Given the description of an element on the screen output the (x, y) to click on. 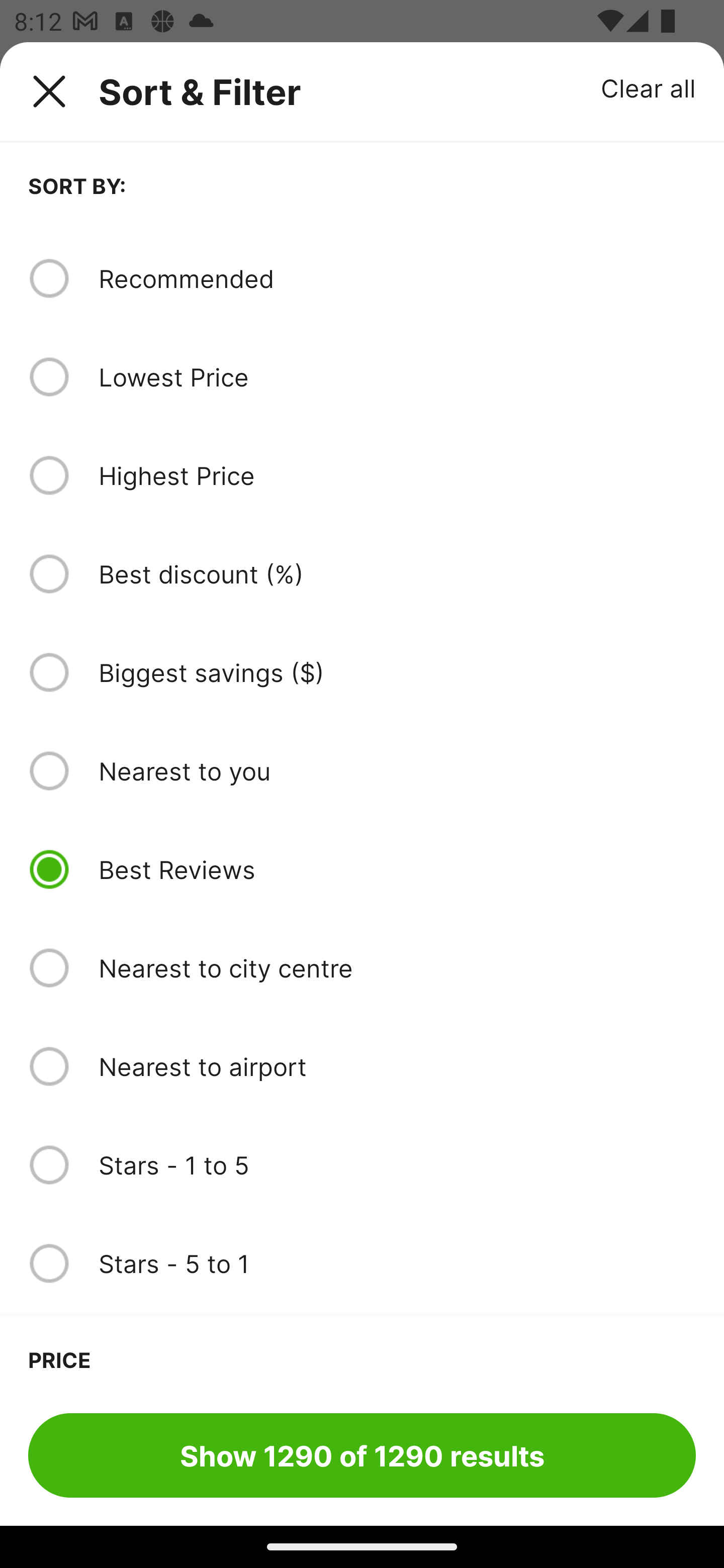
Clear all (648, 87)
Recommended  (396, 278)
Lowest Price (396, 377)
Highest Price (396, 474)
Best discount (%) (396, 573)
Biggest savings ($) (396, 672)
Nearest to you (396, 770)
Best Reviews (396, 869)
Nearest to city centre (396, 968)
Nearest to airport (396, 1065)
Stars - 1 to 5 (396, 1164)
Stars - 5 to 1 (396, 1263)
Show 1290 of 1290 results (361, 1454)
